Given the description of an element on the screen output the (x, y) to click on. 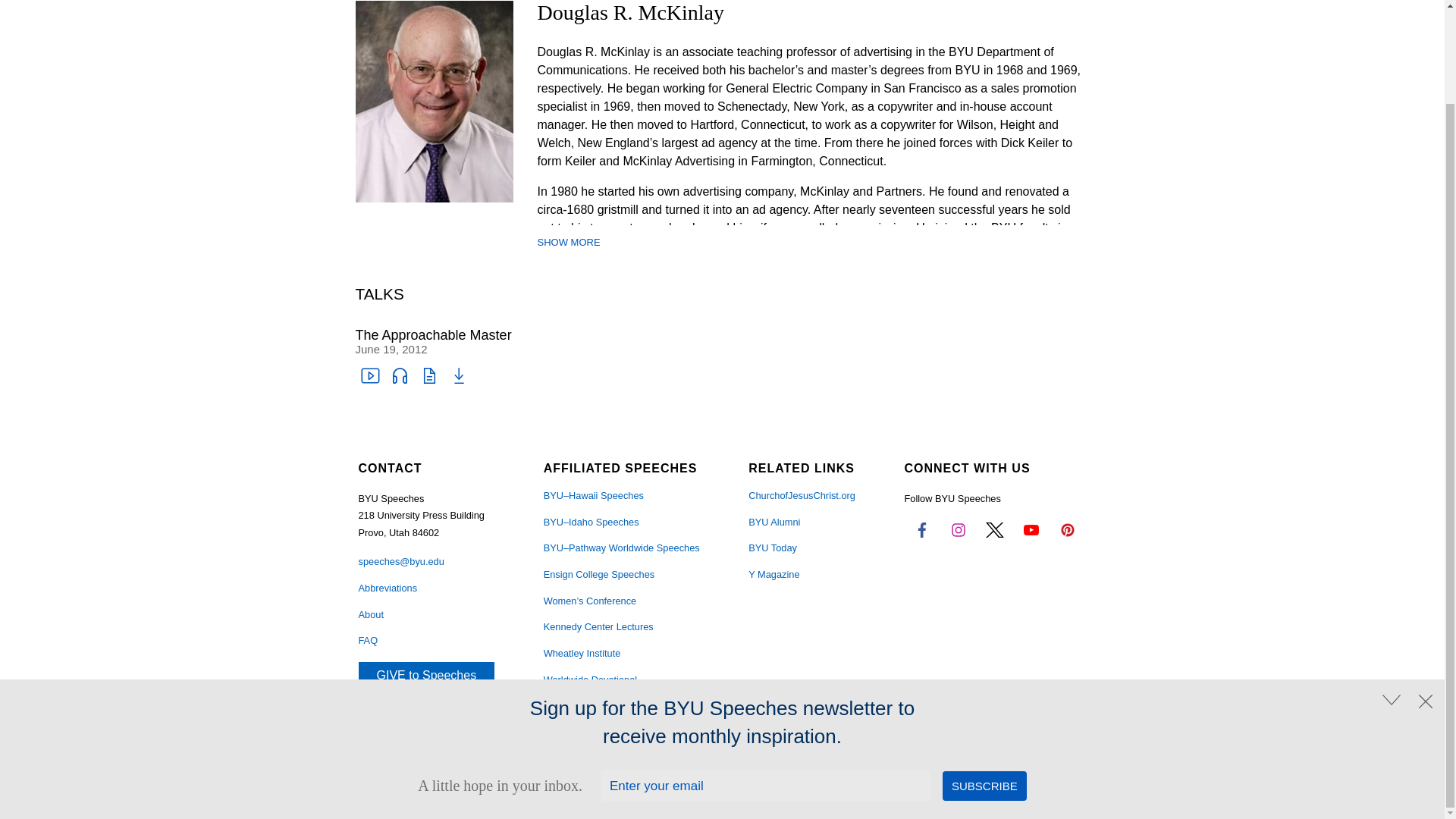
Subscribe (984, 677)
Subscribe (984, 677)
SHOW MORE (568, 242)
The Approachable Master (433, 335)
